Given the description of an element on the screen output the (x, y) to click on. 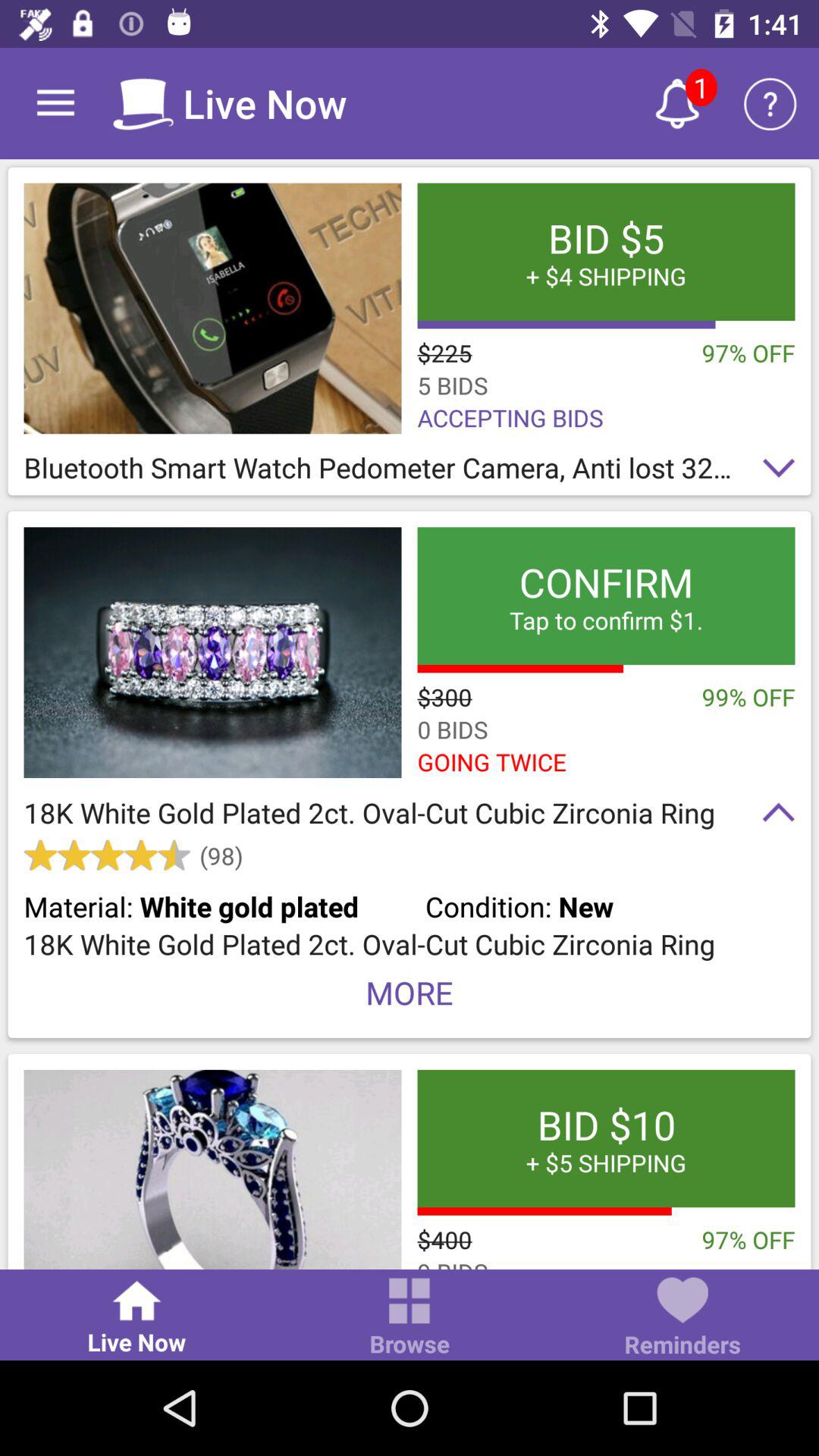
tap icon next to reminders (409, 1318)
